Given the description of an element on the screen output the (x, y) to click on. 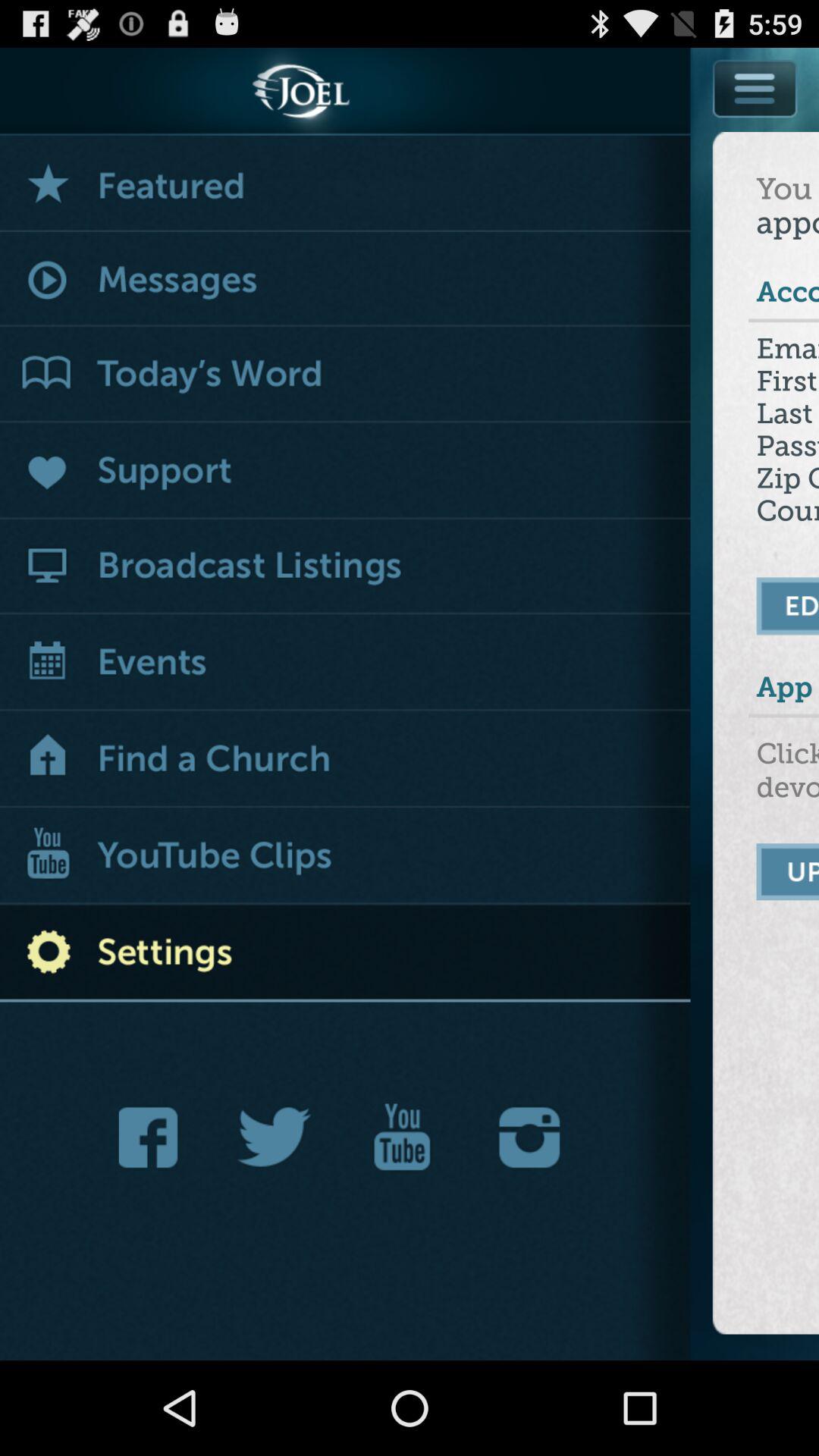
edit account details (788, 606)
